Given the description of an element on the screen output the (x, y) to click on. 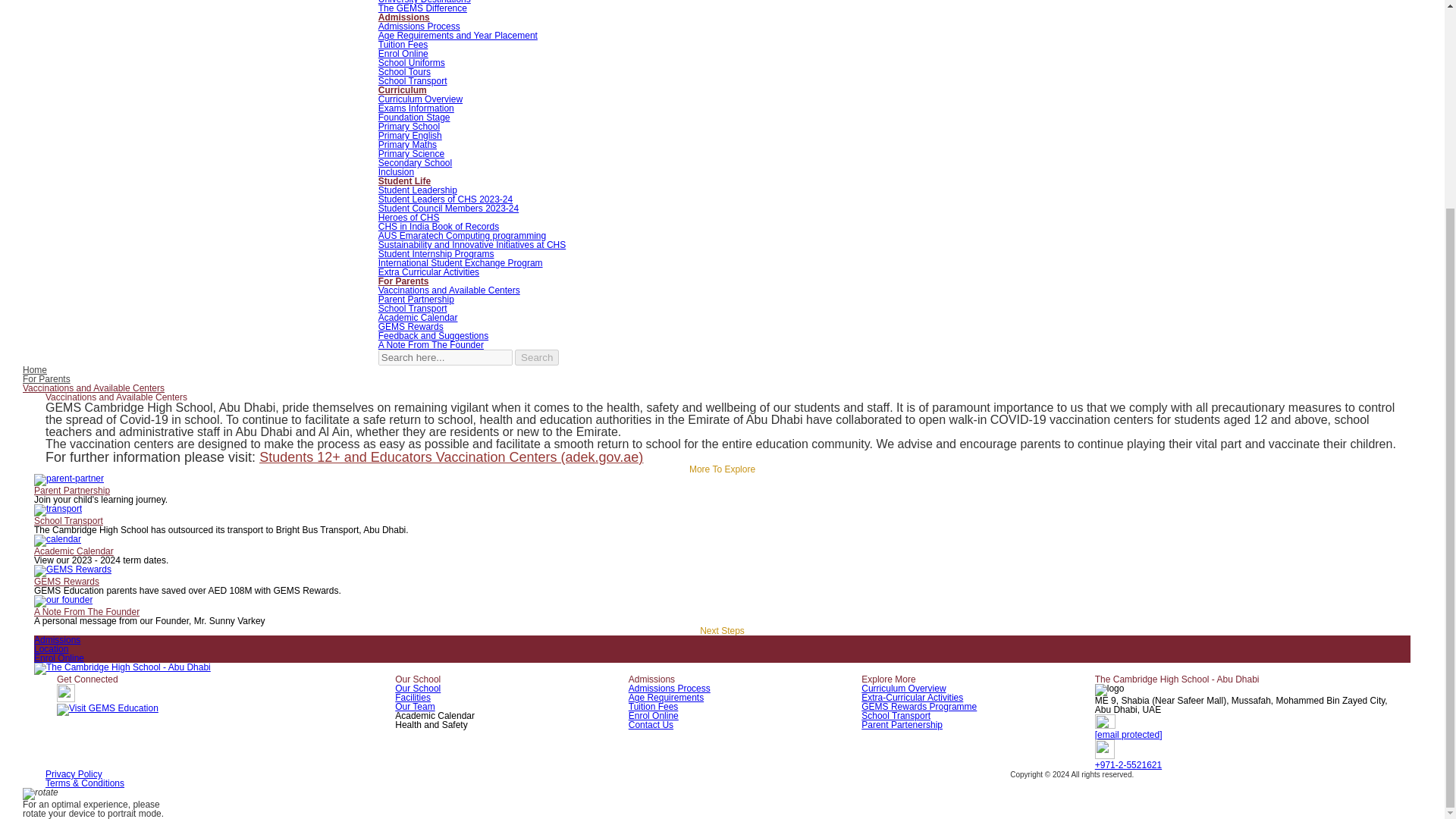
Tuition Fees (403, 44)
School Transport (412, 81)
School Uniforms (411, 62)
Admissions (403, 17)
School Tours (404, 71)
The GEMS Difference (422, 8)
Admissions Process (419, 26)
University Destinations (424, 2)
Enrol Online (403, 53)
Age Requirements and Year Placement (457, 35)
